Given the description of an element on the screen output the (x, y) to click on. 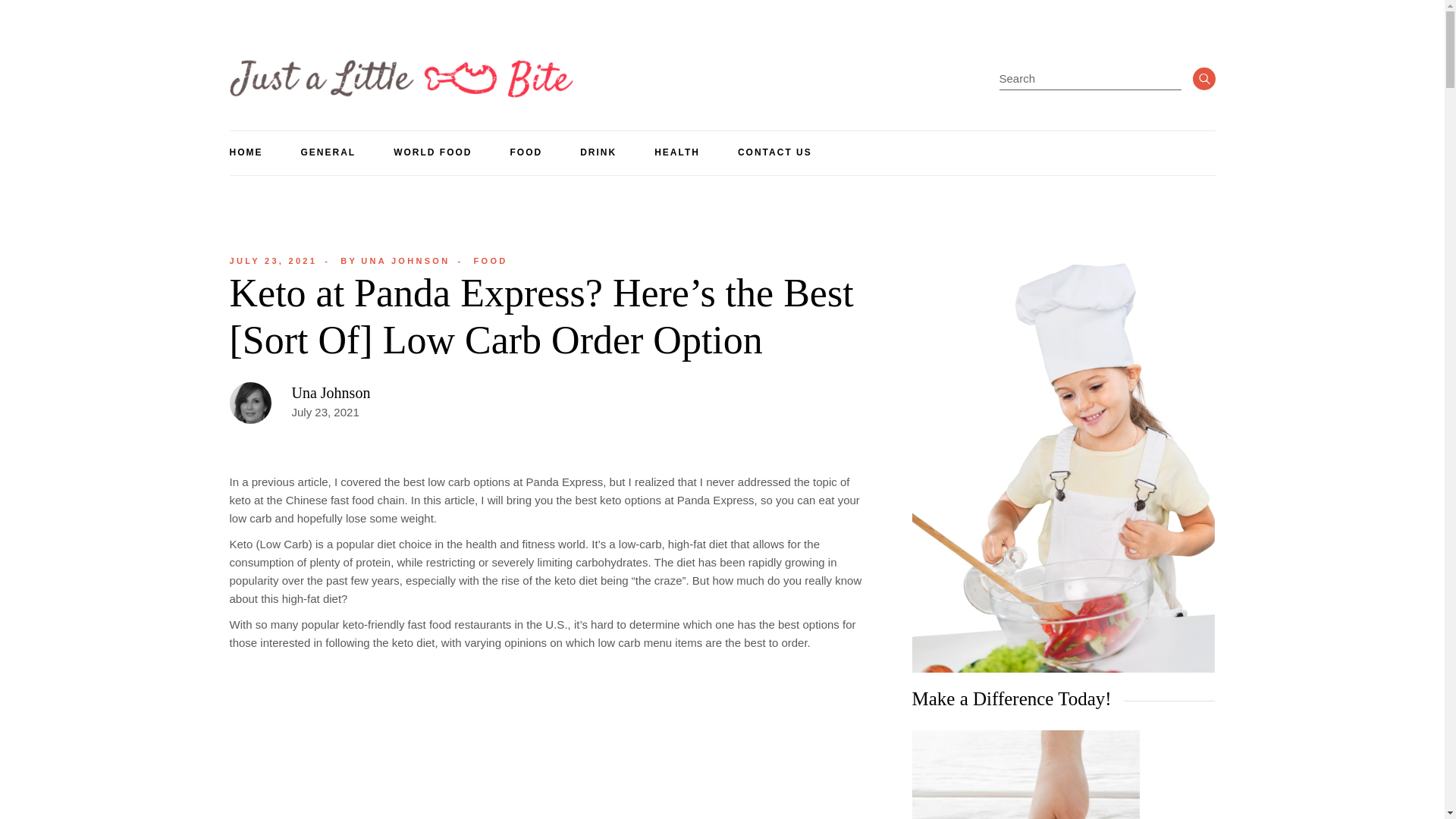
WORLD FOOD (432, 153)
Make a Difference Today! (1024, 774)
HEALTH (676, 153)
Title Text:  (272, 261)
GENERAL (327, 153)
CONTACT US (775, 153)
FOOD (491, 261)
Una Johnson (330, 392)
JULY 23, 2021 (272, 261)
